Given the description of an element on the screen output the (x, y) to click on. 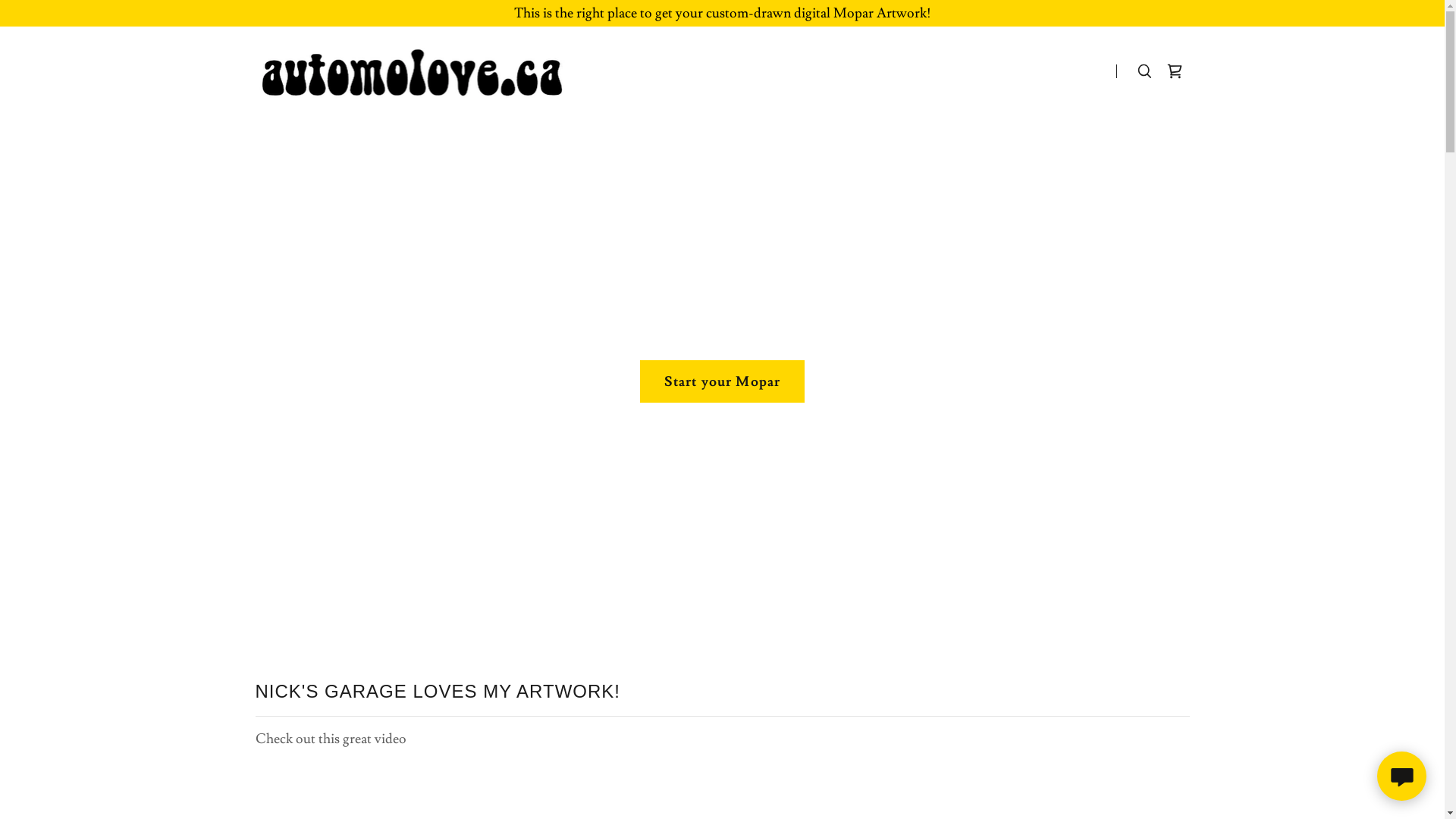
Start your Mopar Element type: text (722, 381)
AUTOMOLOVE.CA Element type: hover (417, 67)
